Given the description of an element on the screen output the (x, y) to click on. 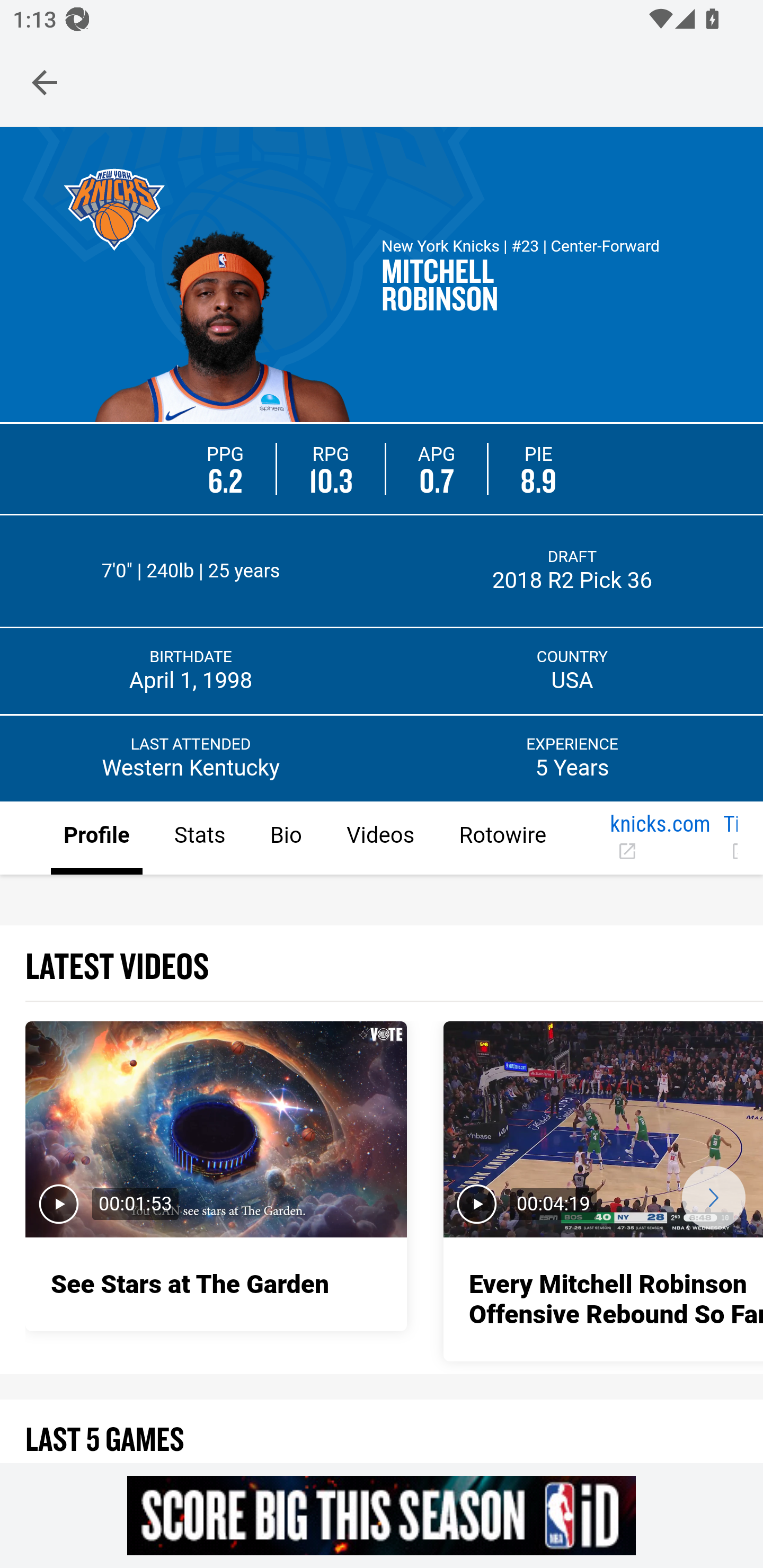
Navigate up (44, 82)
New York Knicks Logo (114, 209)
Profile (97, 838)
Stats (199, 838)
Bio (284, 838)
Videos (379, 838)
Rotowire (501, 838)
knicks.com (659, 838)
Carousel Button (713, 1197)
